Given the description of an element on the screen output the (x, y) to click on. 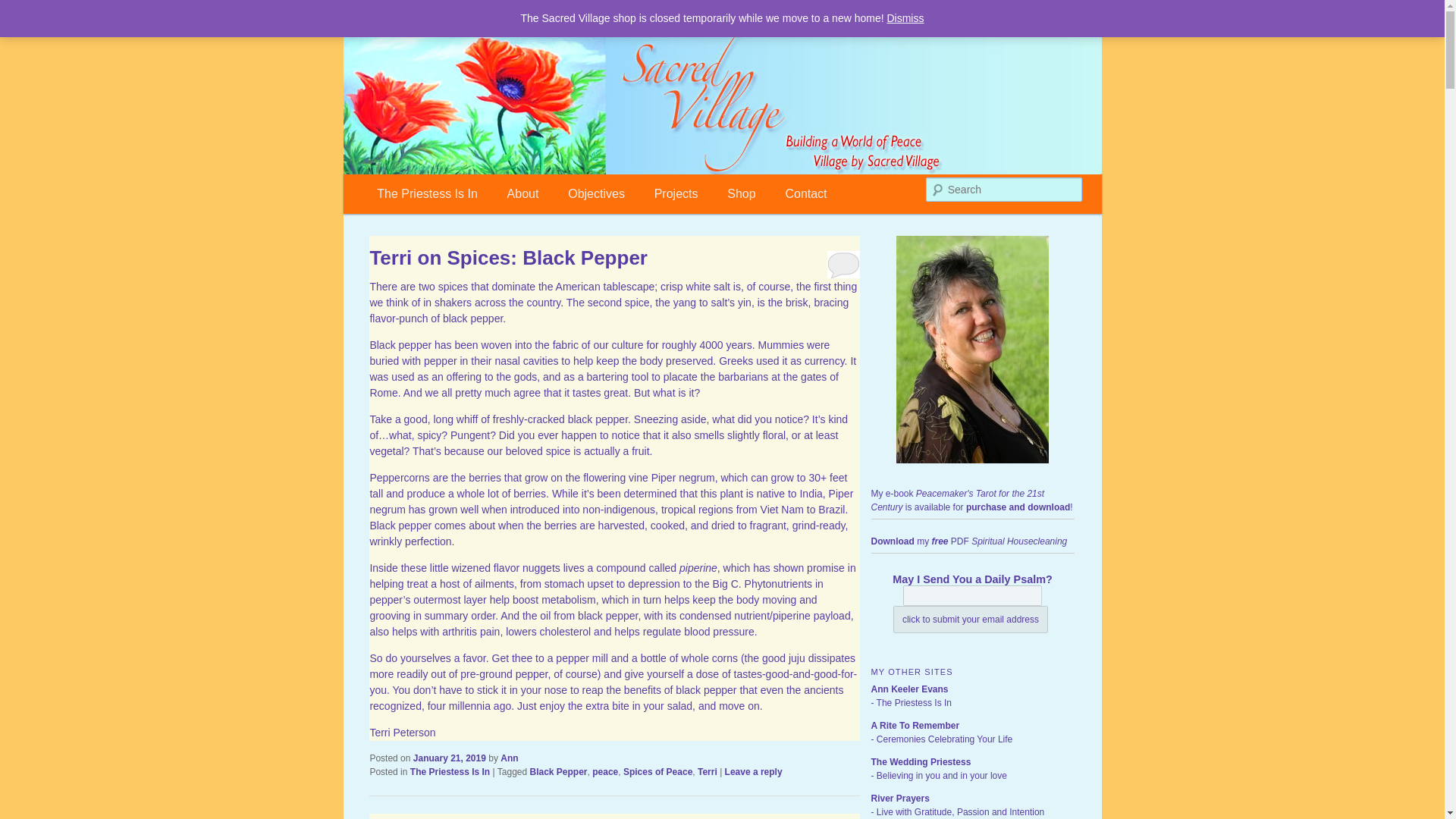
Leave a reply (754, 771)
Terri on Spices: Black Pepper (508, 257)
Projects (676, 193)
Terri (707, 771)
View all posts by Ann (509, 757)
Skip to secondary content (443, 191)
About (522, 193)
Ann (509, 757)
peace (604, 771)
2:39 pm (449, 757)
The Priestess Is In (449, 771)
Sacred Village (447, 74)
Objectives (596, 193)
Shop (741, 193)
Spices of Peace (658, 771)
